Given the description of an element on the screen output the (x, y) to click on. 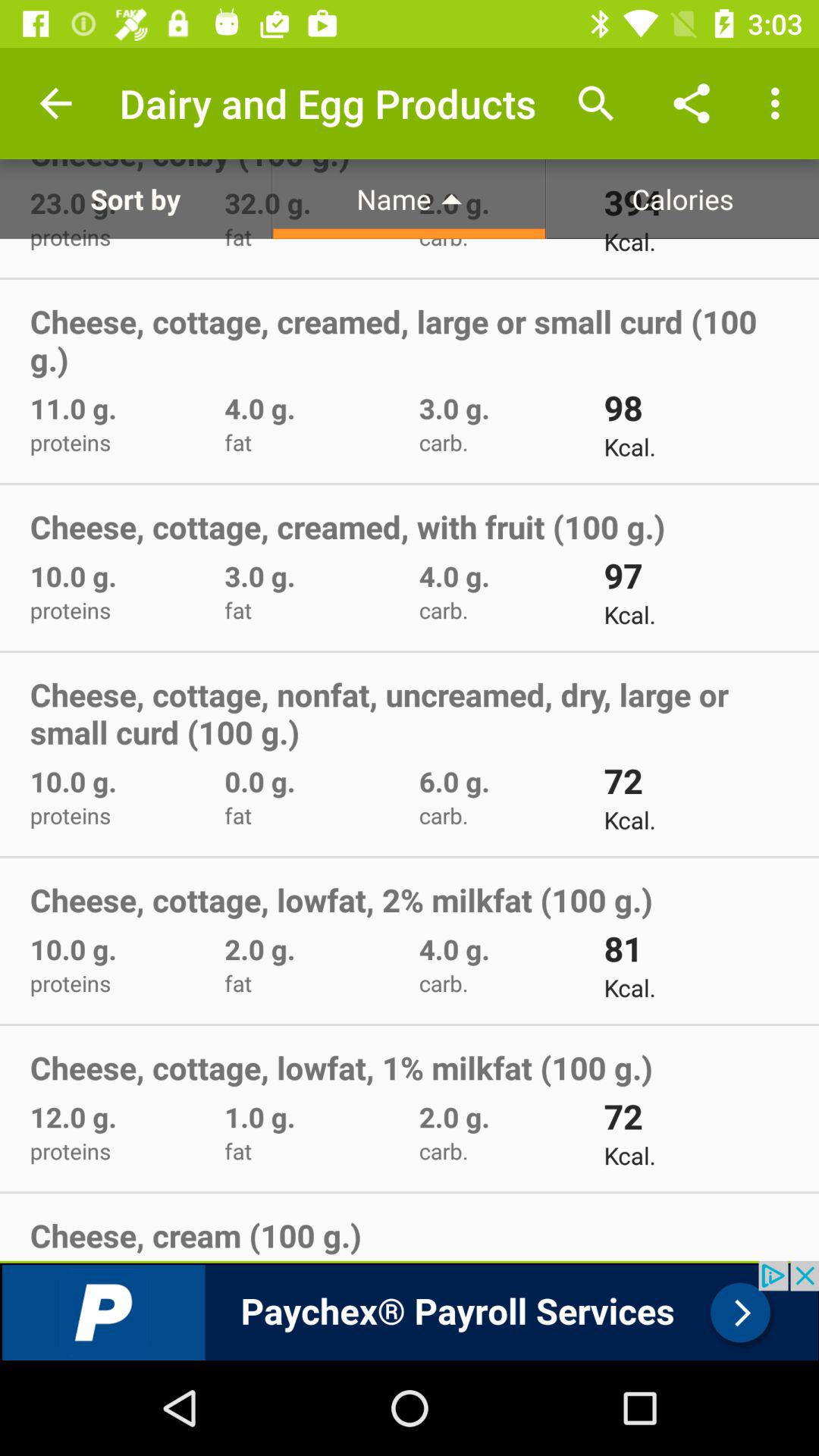
open advertisement (409, 1310)
